Given the description of an element on the screen output the (x, y) to click on. 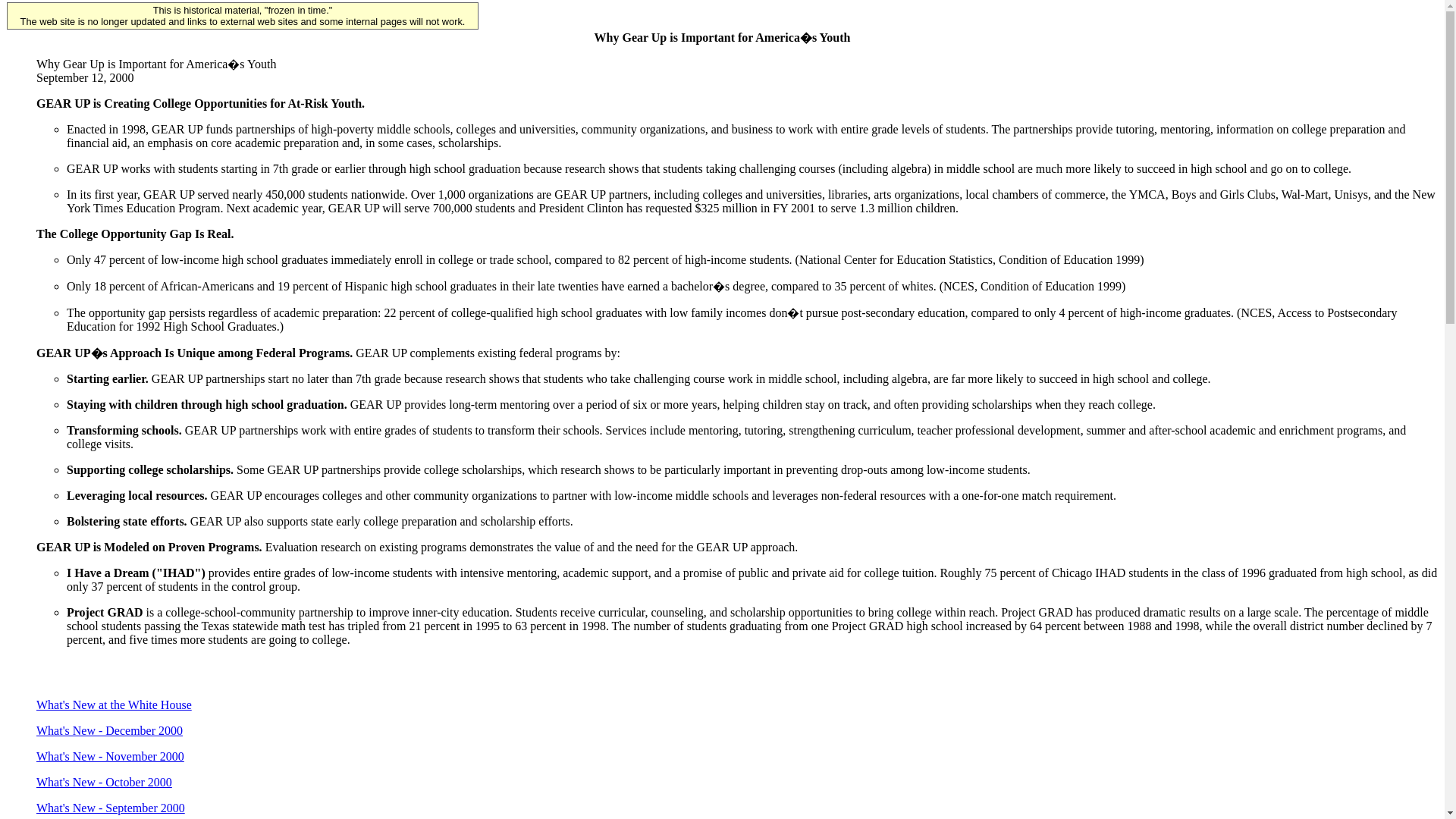
What's New - December 2000 (109, 730)
What's New at the White House (114, 704)
What's New - November 2000 (110, 756)
What's New - September 2000 (110, 807)
What's New - October 2000 (103, 781)
